Given the description of an element on the screen output the (x, y) to click on. 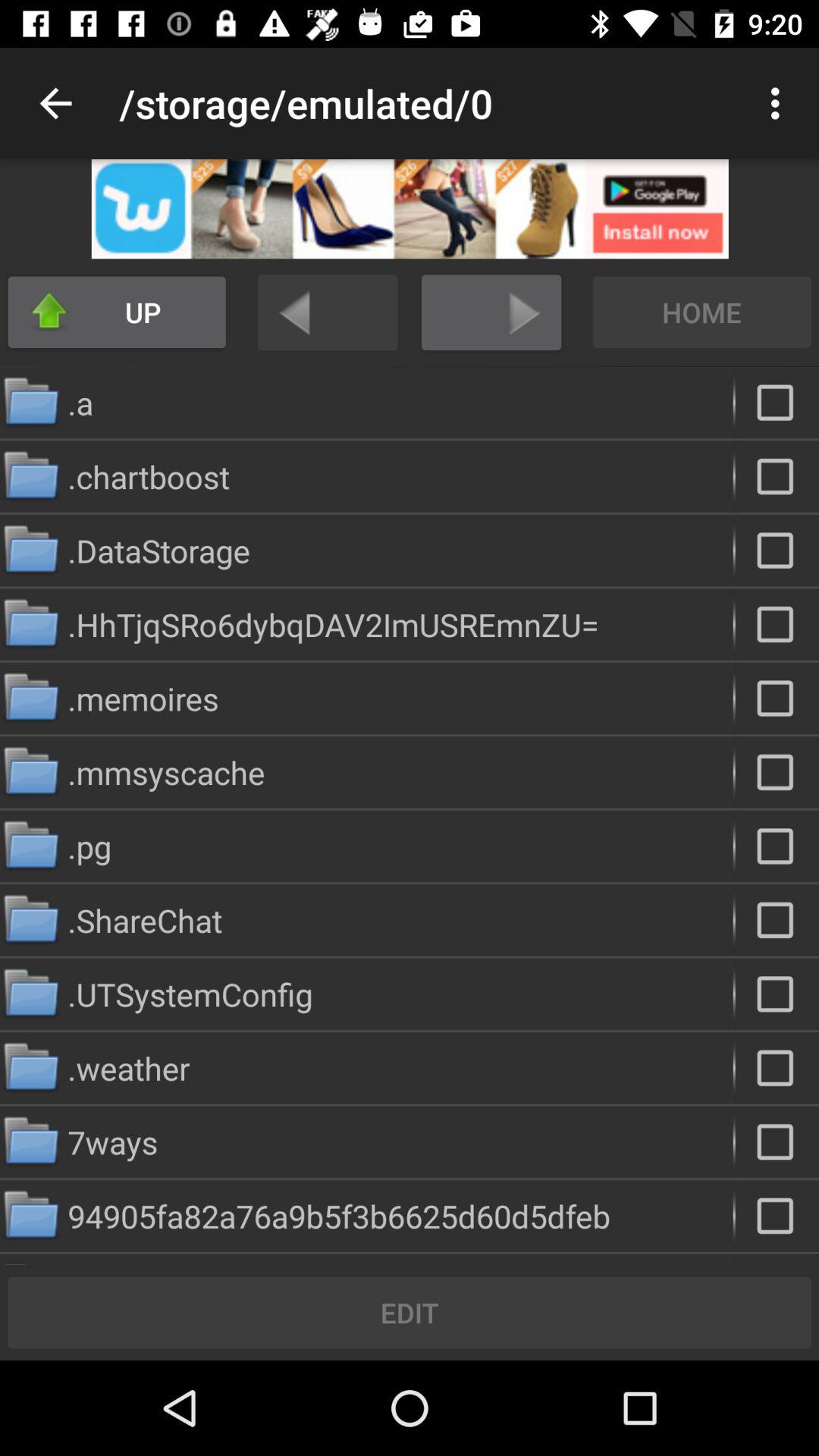
check mark a file (777, 402)
